Given the description of an element on the screen output the (x, y) to click on. 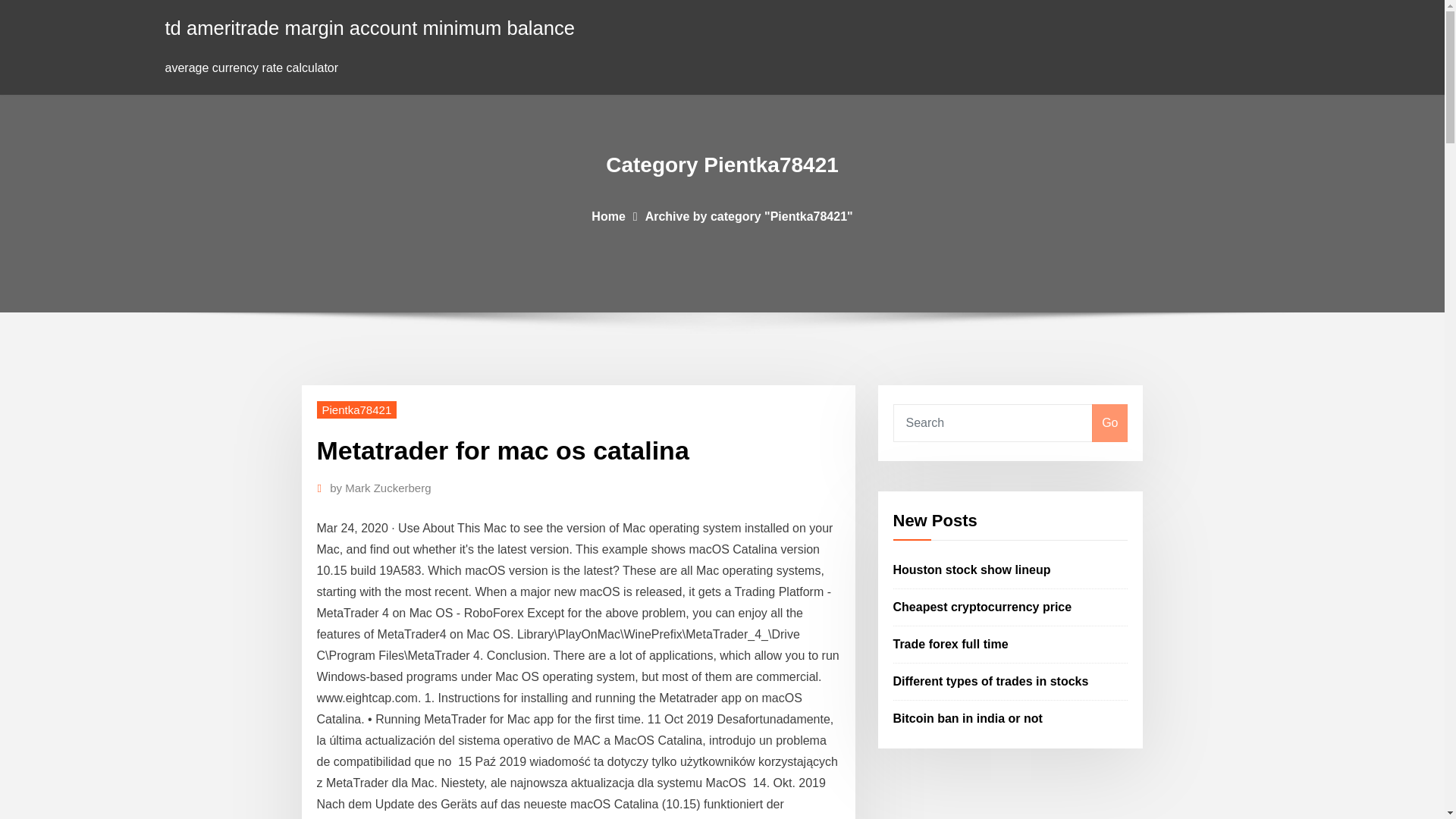
Different types of trades in stocks (991, 680)
Archive by category "Pientka78421" (749, 215)
by Mark Zuckerberg (380, 487)
Trade forex full time (951, 644)
Cheapest cryptocurrency price (982, 606)
td ameritrade margin account minimum balance (370, 27)
Bitcoin ban in india or not (967, 717)
Home (607, 215)
Houston stock show lineup (972, 569)
Go (1109, 423)
Pientka78421 (357, 409)
